Given the description of an element on the screen output the (x, y) to click on. 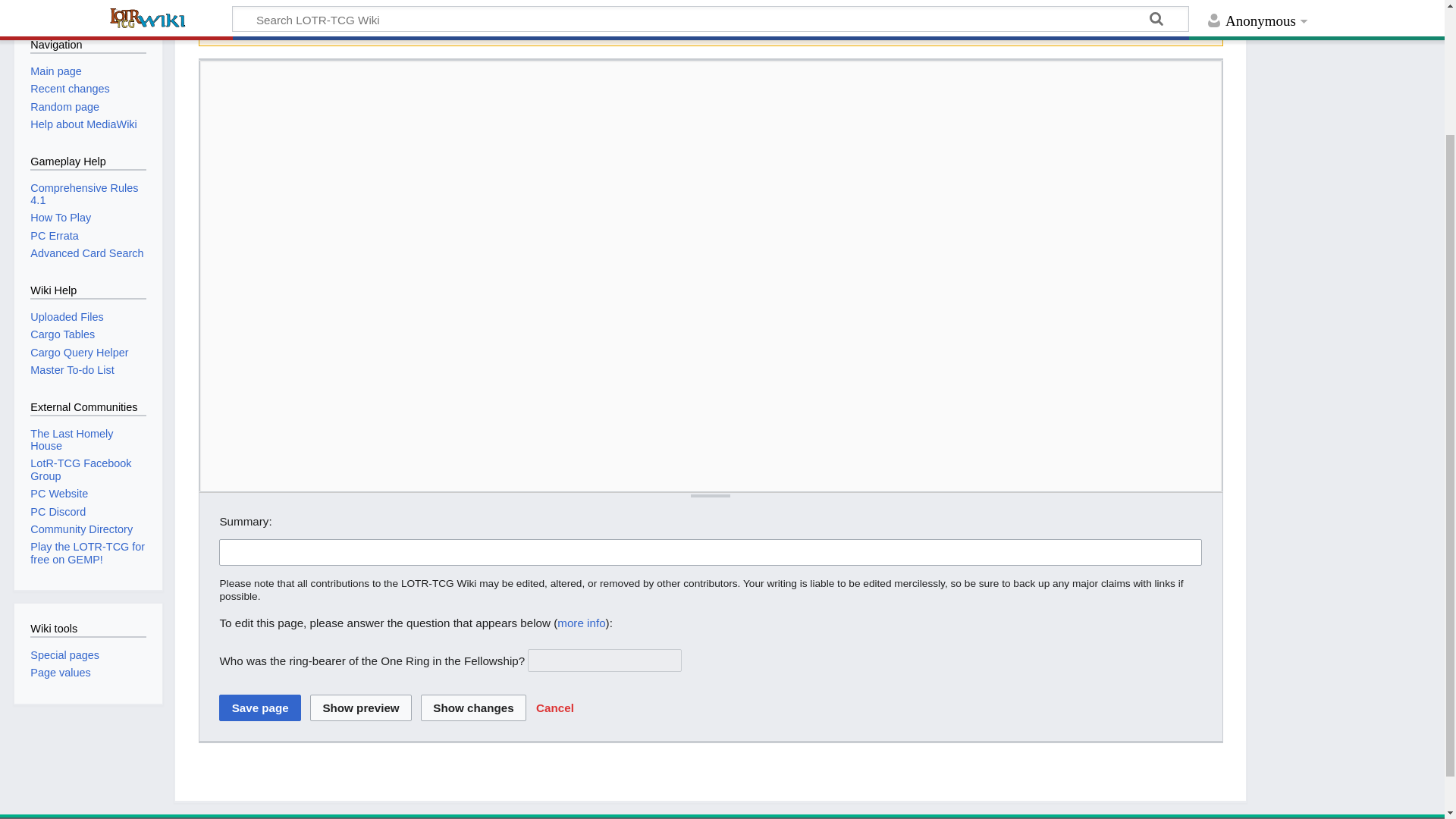
Save page (260, 707)
log in (742, 10)
Show changes (472, 707)
Show preview (361, 707)
create an account (823, 10)
